Given the description of an element on the screen output the (x, y) to click on. 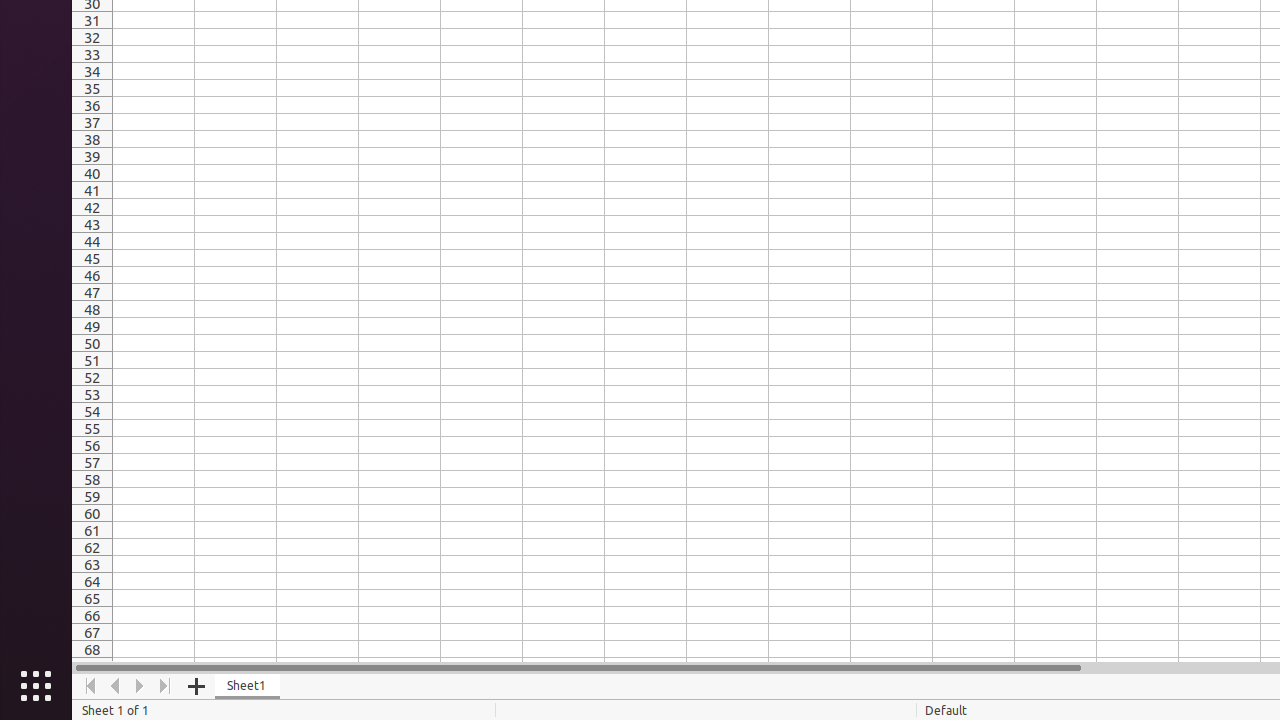
Move To End Element type: push-button (165, 686)
